Given the description of an element on the screen output the (x, y) to click on. 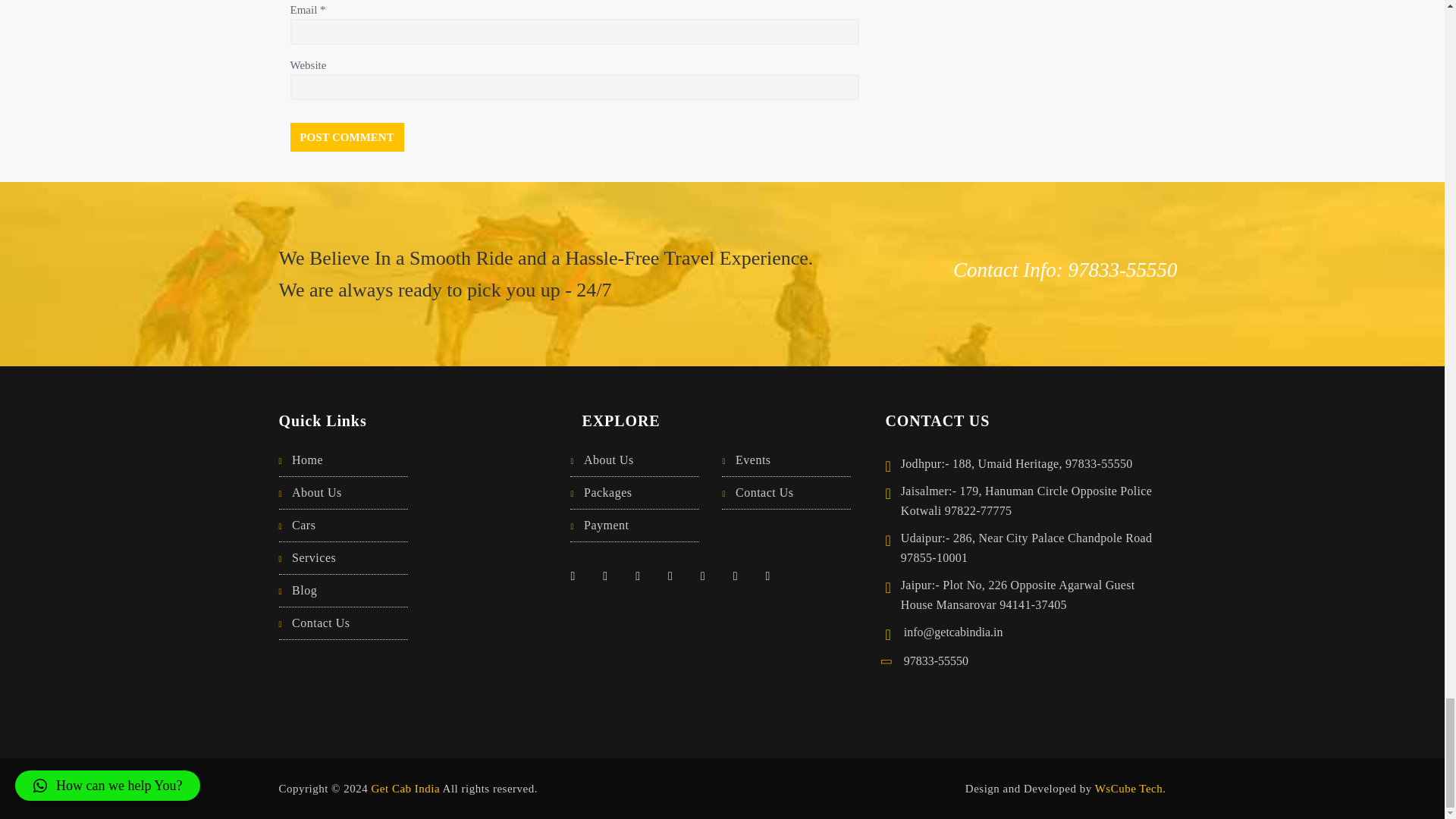
facebook (577, 574)
twitter (609, 574)
Post Comment (346, 136)
